Given the description of an element on the screen output the (x, y) to click on. 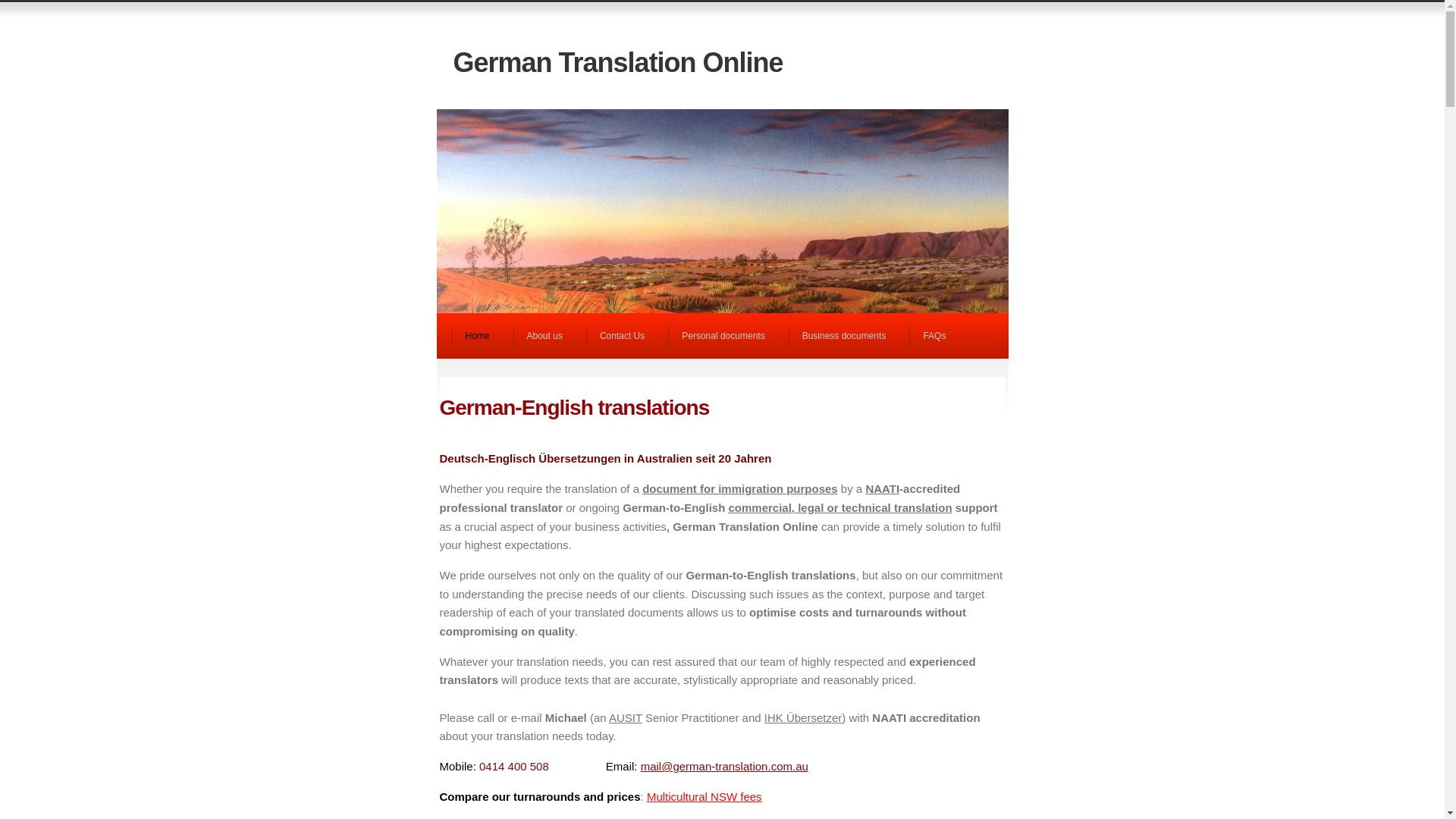
NAATI Element type: text (882, 488)
FAQs Element type: text (938, 335)
Contact Us Element type: text (626, 335)
Personal documents Element type: text (727, 335)
commercial, legal or technical translation Element type: text (839, 507)
About us Element type: text (549, 335)
document for immigration purposes Element type: text (739, 488)
Multicultural NSW fees Element type: text (704, 796)
German Translation Online Element type: text (618, 62)
Business documents Element type: text (848, 335)
AUSIT Element type: text (625, 717)
Home Element type: text (481, 335)
mail@german-translation.com.au Element type: text (724, 765)
